Given the description of an element on the screen output the (x, y) to click on. 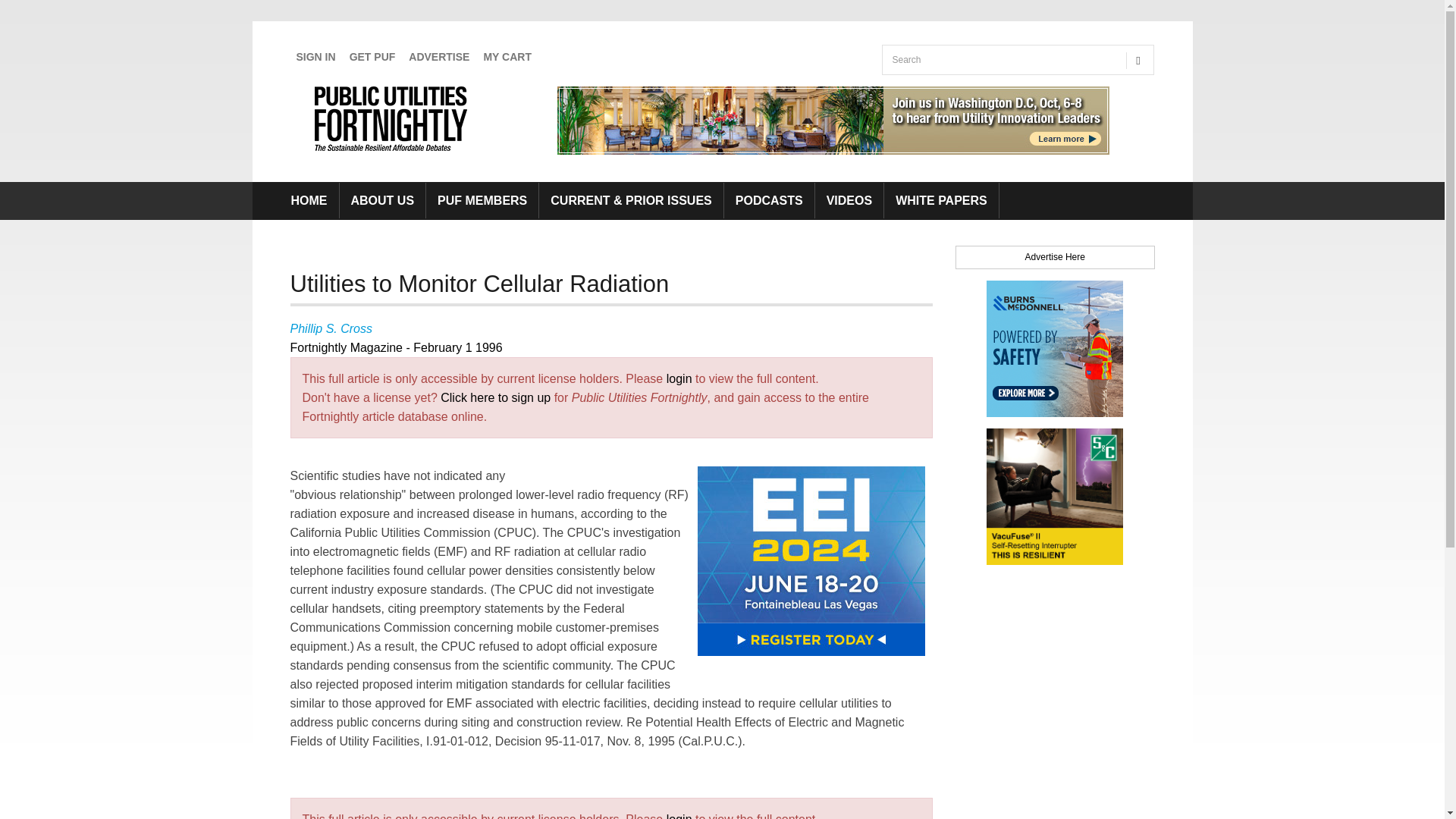
GET PUF (372, 57)
ADVERTISE (439, 57)
Home (393, 118)
MY CART (507, 57)
Enter the terms you wish to search for. (1001, 60)
Search (898, 90)
ABOUT US (382, 200)
Advertise Here (1054, 256)
Click here to sign up (495, 397)
login (679, 816)
SIGN IN (314, 57)
PODCASTS (768, 200)
Fortnightly Magazine - February 1 1996 (395, 347)
PUF MEMBERS (482, 200)
